Given the description of an element on the screen output the (x, y) to click on. 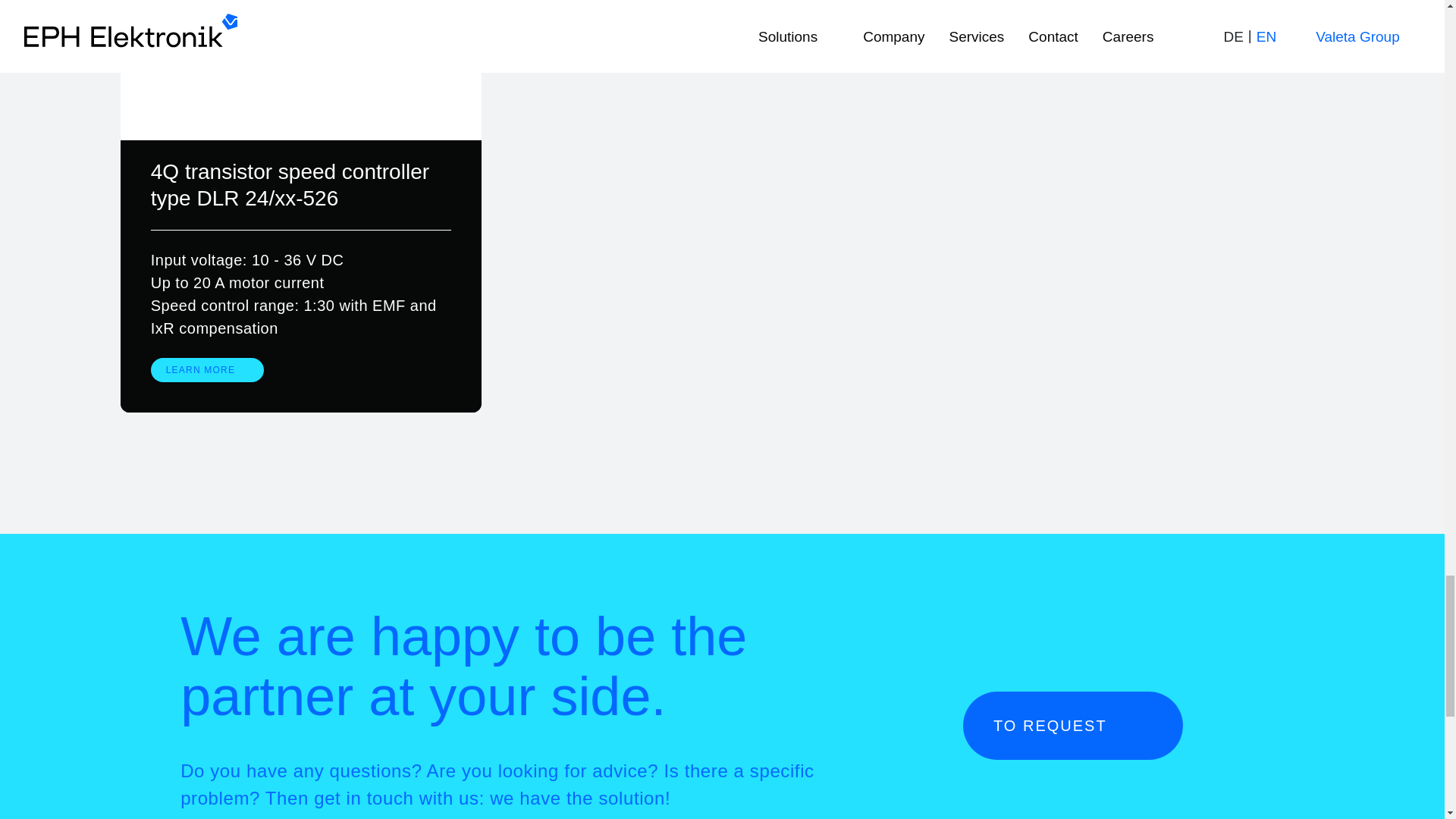
TO REQUEST (1072, 725)
